Given the description of an element on the screen output the (x, y) to click on. 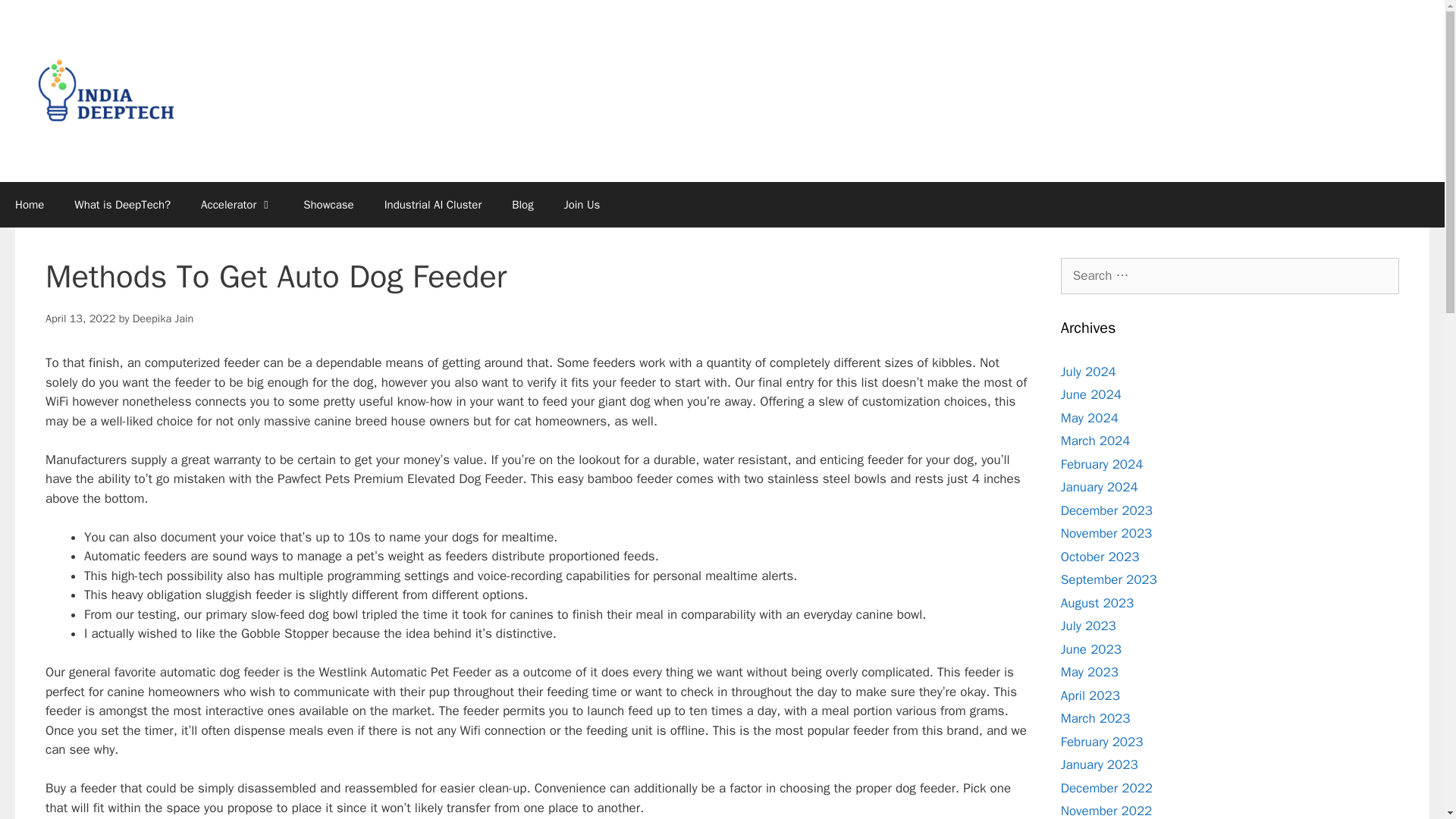
November 2022 (1107, 811)
November 2023 (1107, 533)
Showcase (328, 204)
View all posts by Deepika Jain (162, 318)
Join Us (581, 204)
December 2023 (1107, 509)
What is DeepTech? (122, 204)
India DeepTech (106, 91)
Search for: (1230, 275)
India DeepTech (106, 89)
April 2023 (1090, 694)
July 2024 (1088, 371)
Industrial AI Cluster (433, 204)
October 2023 (1100, 556)
March 2024 (1096, 440)
